Given the description of an element on the screen output the (x, y) to click on. 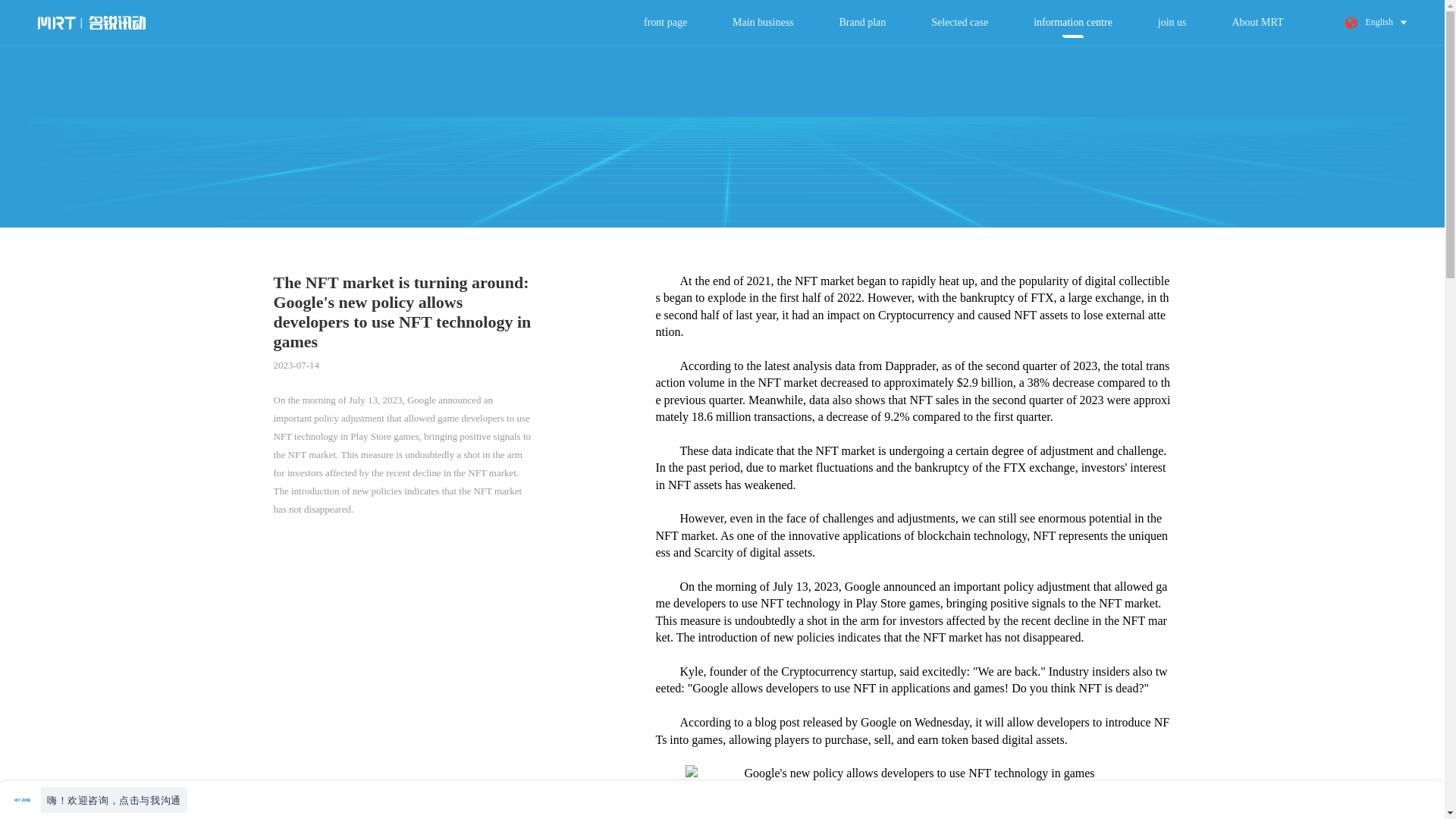
Enterprise Information System (1040, 58)
WeChat (867, 60)
about Us (1218, 60)
ERP system development (773, 58)
join us (1171, 22)
information centre (1072, 22)
System customization development (281, 60)
IoT development (1009, 58)
Brand plan (863, 22)
SaaS system development (518, 58)
